Given the description of an element on the screen output the (x, y) to click on. 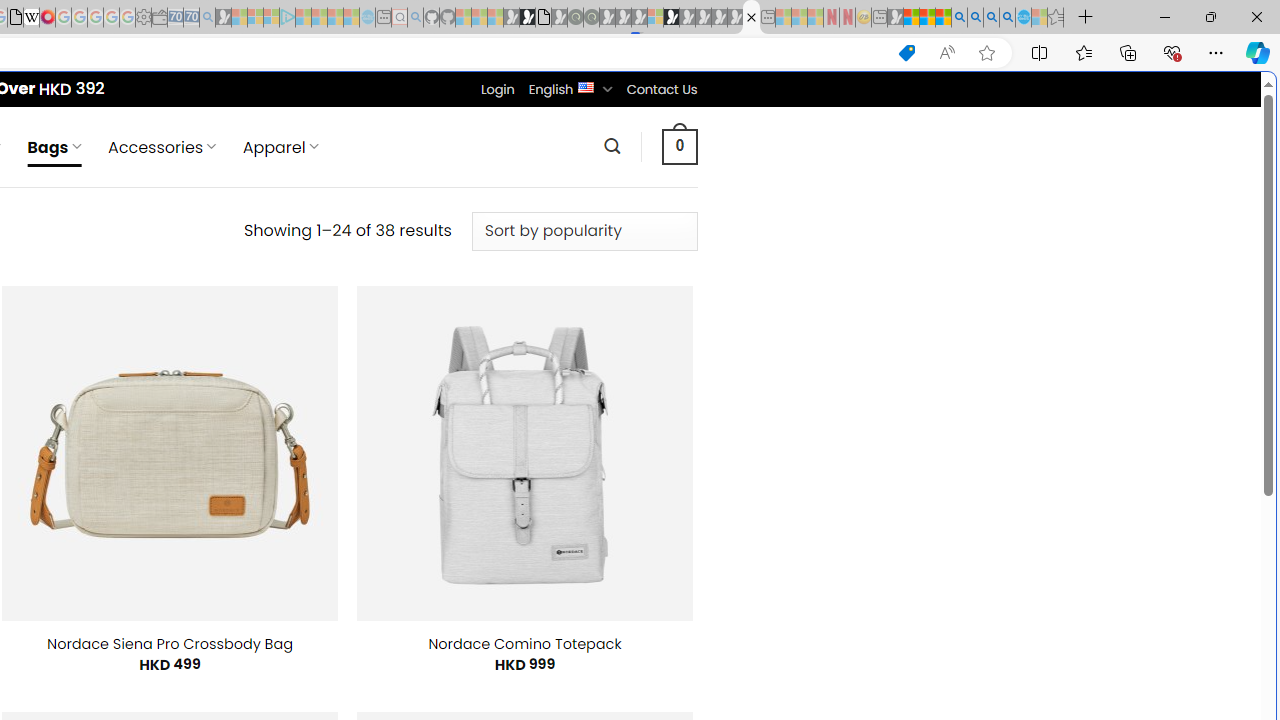
 0  (679, 146)
Login (497, 89)
Tabs you've opened (276, 265)
MSN - Sleeping (895, 17)
Nordace Comino Totepack (524, 643)
